Given the description of an element on the screen output the (x, y) to click on. 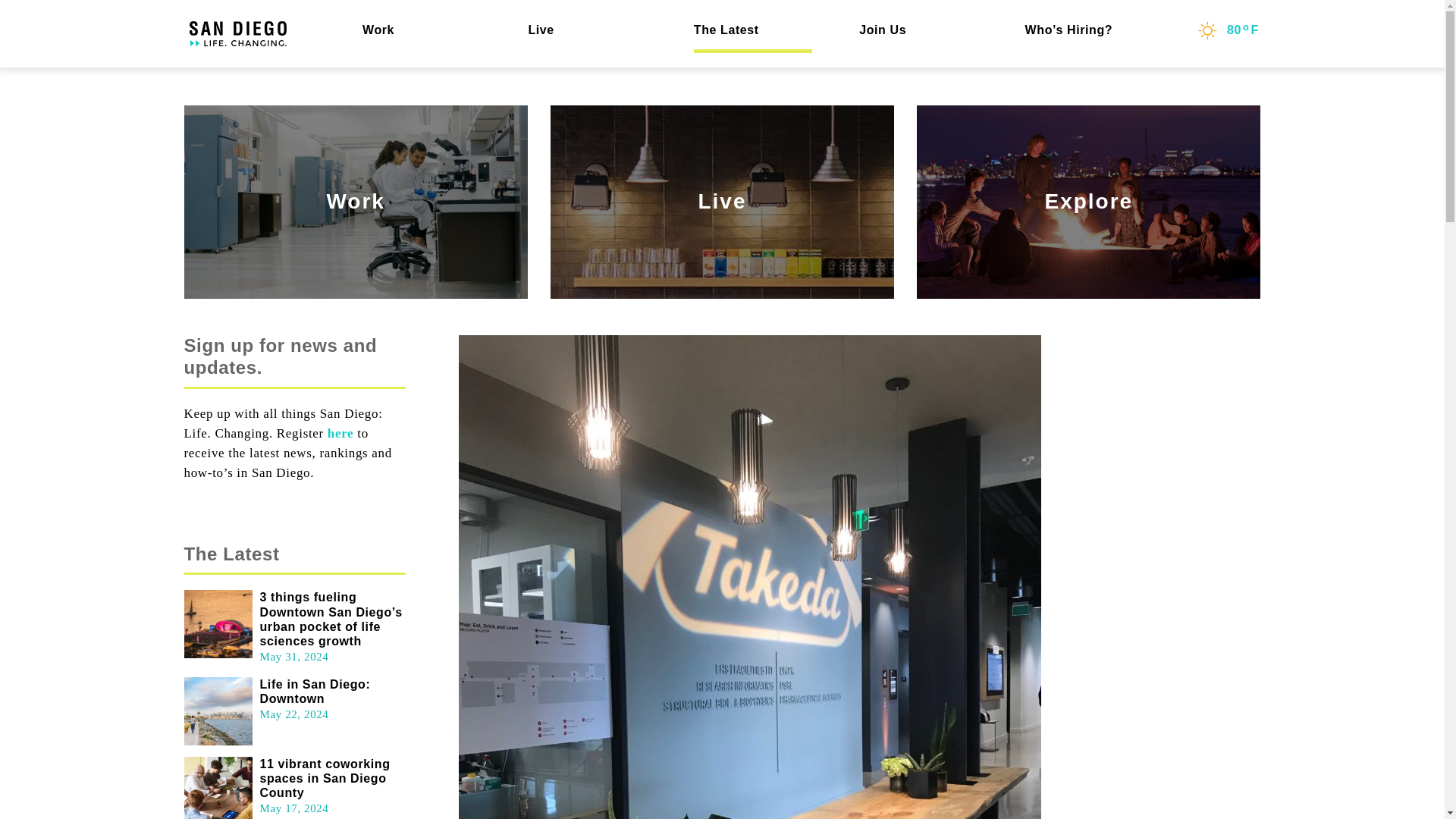
The Latest (753, 30)
Join Us (918, 30)
Explore (1088, 201)
Live (588, 30)
Life in San Diego: Downtown (314, 691)
Work (423, 30)
11 vibrant coworking spaces in San Diego County (324, 778)
Live (721, 201)
here (340, 432)
80 F (1226, 30)
San Diego: Life. Changing. (237, 33)
Work (355, 201)
